Given the description of an element on the screen output the (x, y) to click on. 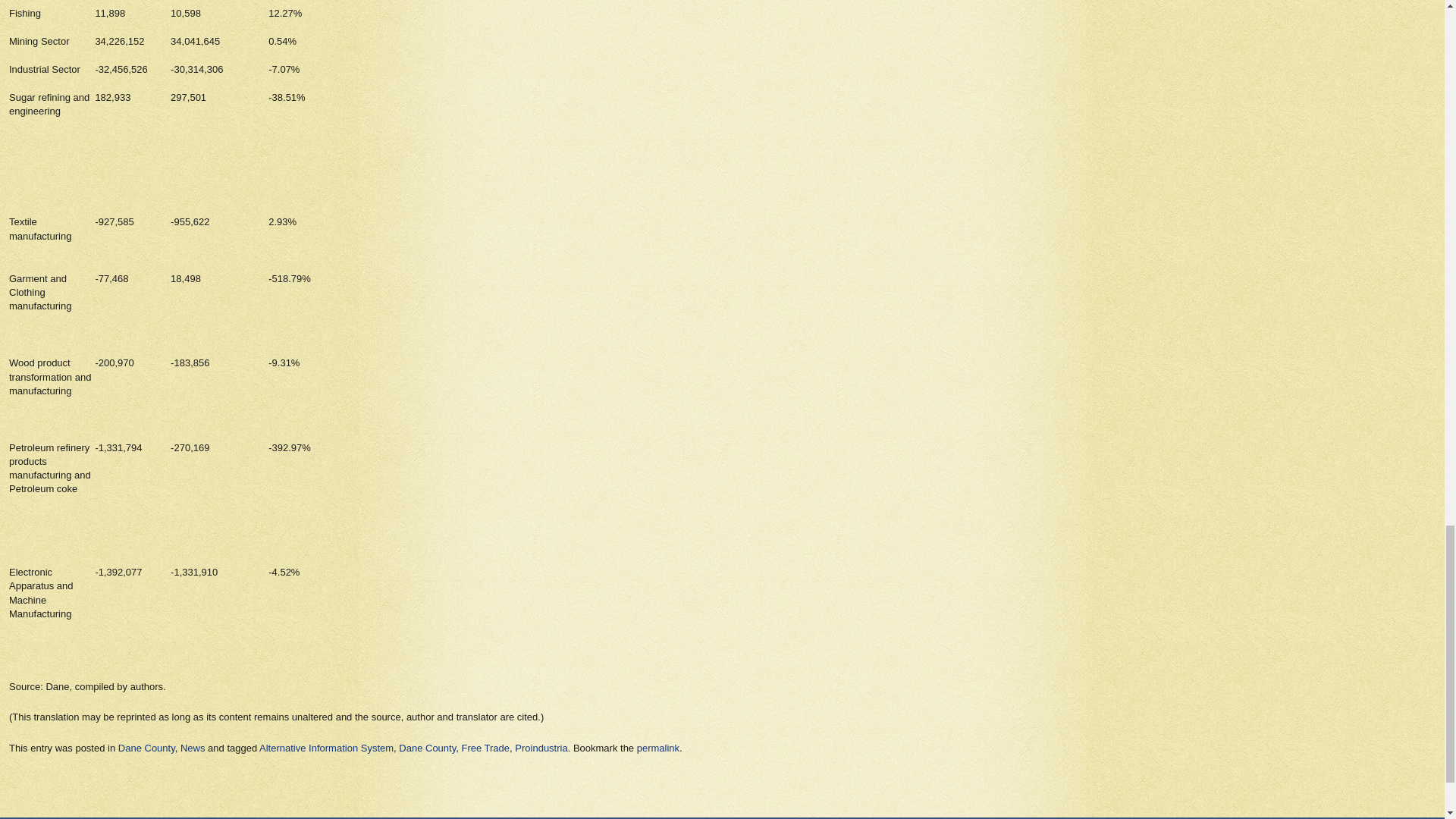
Alternative Information System (326, 747)
permalink (658, 747)
Proindustria (541, 747)
News (192, 747)
Free Trade (485, 747)
Dane County (426, 747)
Dane County (145, 747)
